Given the description of an element on the screen output the (x, y) to click on. 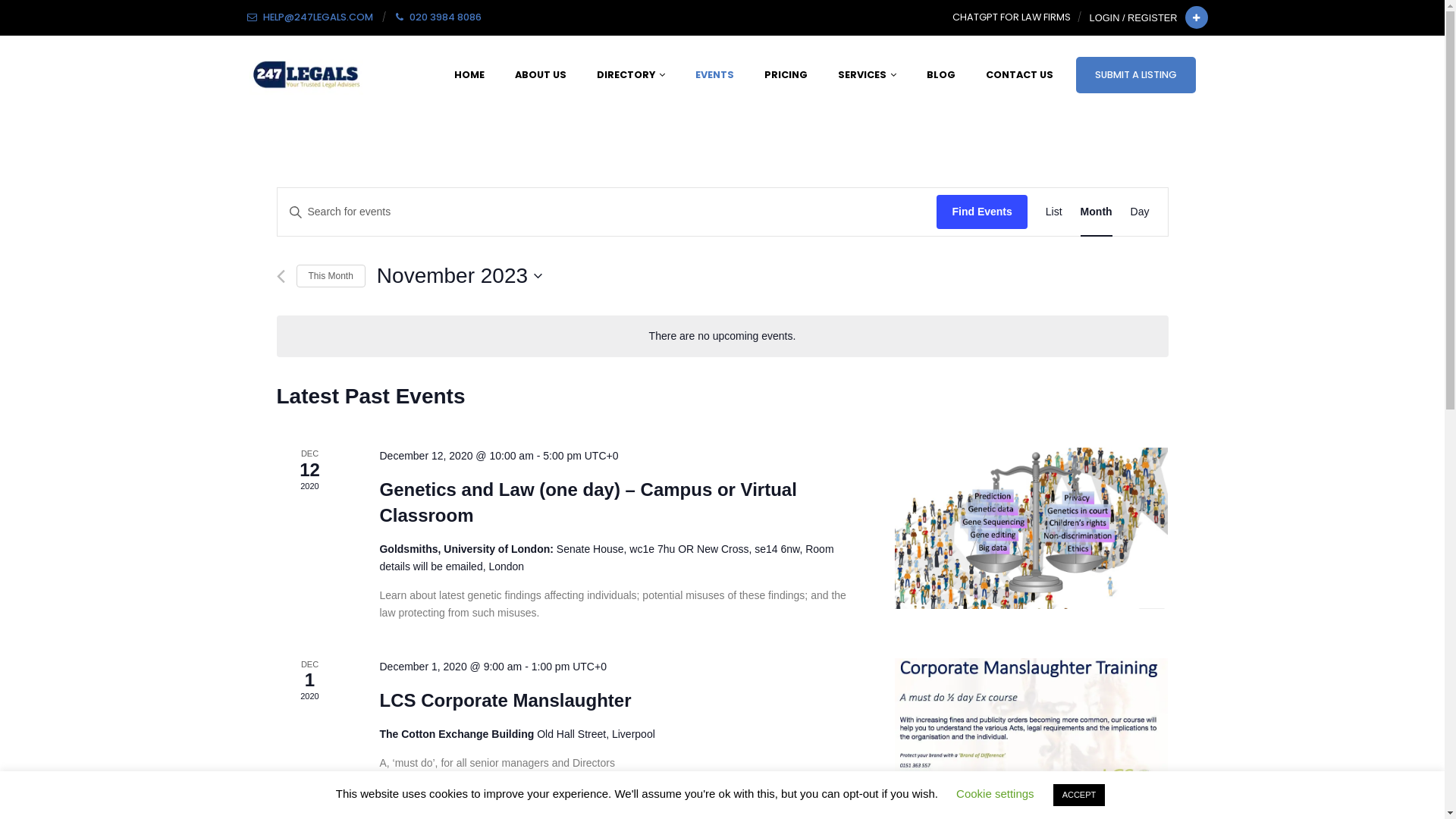
Cookie settings Element type: text (995, 793)
HOME Element type: text (468, 74)
CONTACT US Element type: text (1019, 74)
LOGIN / REGISTER Element type: text (1135, 17)
Find Events Element type: text (981, 211)
List Element type: text (1053, 211)
BLOG Element type: text (941, 74)
Month Element type: text (1096, 211)
November 2023 Element type: text (459, 275)
EVENTS Element type: text (713, 74)
HELP@247LEGALS.COM Element type: text (309, 17)
LCS Corporate Manslaughter Element type: hover (1030, 727)
ABOUT US Element type: text (539, 74)
SUBMIT A LISTING Element type: text (1135, 74)
CHATGPT FOR LAW FIRMS Element type: text (1011, 17)
PRICING Element type: text (785, 74)
020 3984 8086 Element type: text (438, 17)
ACCEPT Element type: text (1079, 795)
This Month Element type: text (329, 276)
Day Element type: text (1139, 211)
LCS Corporate Manslaughter Element type: text (504, 700)
DIRECTORY Element type: text (629, 74)
SERVICES Element type: text (866, 74)
Previous month Element type: hover (280, 276)
